Given the description of an element on the screen output the (x, y) to click on. 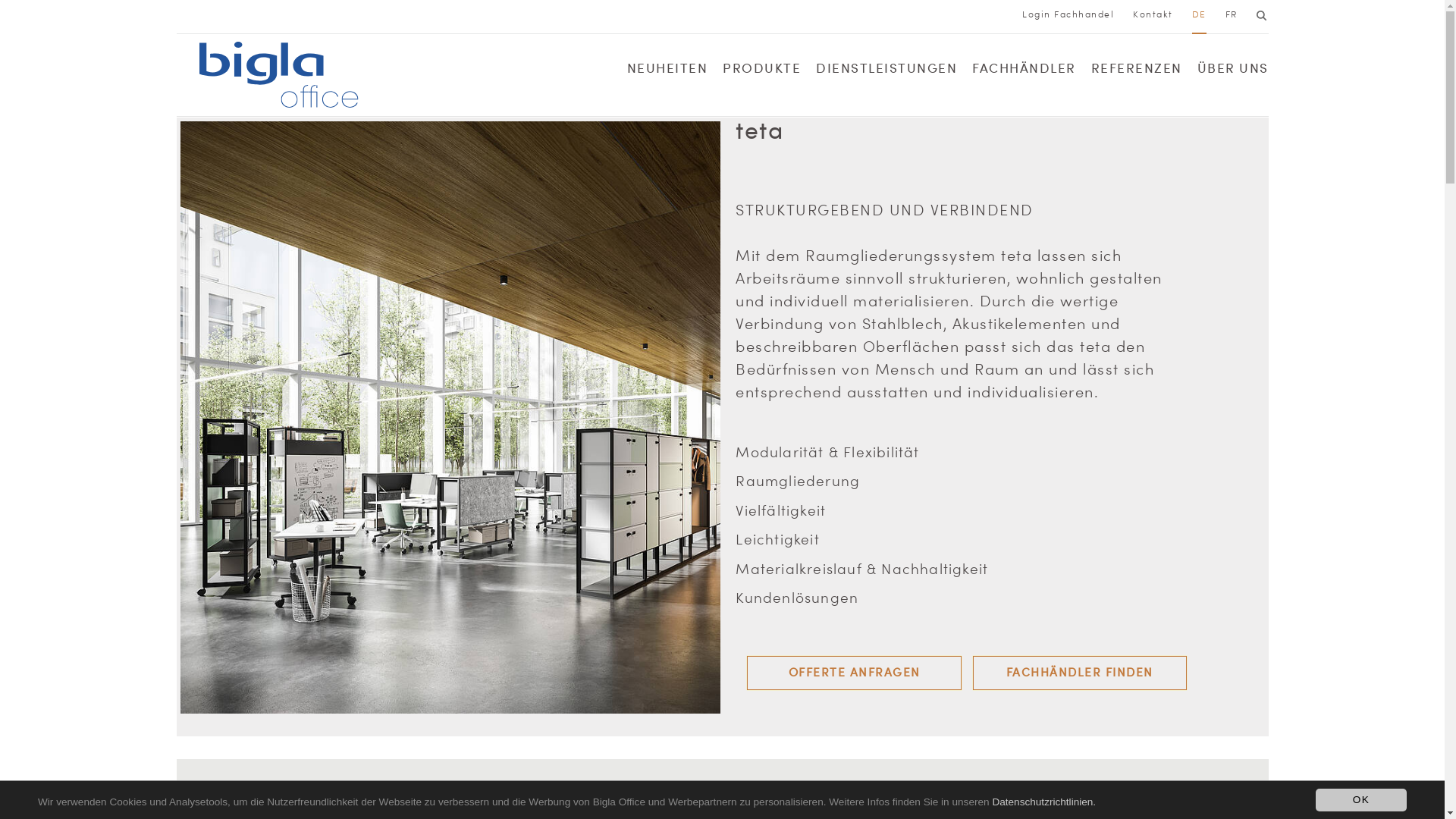
REFERENZEN Element type: text (1135, 71)
FR Element type: text (1231, 14)
NEUHEITEN Element type: text (666, 71)
TETA Element type: text (605, 16)
Kontakt Element type: text (1152, 14)
PRODUKTE Element type: text (761, 71)
OFFERTE ANFRAGEN Element type: text (853, 672)
Datenschutzrichtlinien. Element type: text (1043, 801)
PRODUKTE Element type: text (353, 16)
DIENSTLEISTUNGEN Element type: text (886, 71)
DE Element type: text (1199, 14)
Login Fachhandel Element type: text (1067, 14)
HOME | BIGLA OFFICE Element type: text (237, 16)
OK Element type: text (1360, 799)
